Given the description of an element on the screen output the (x, y) to click on. 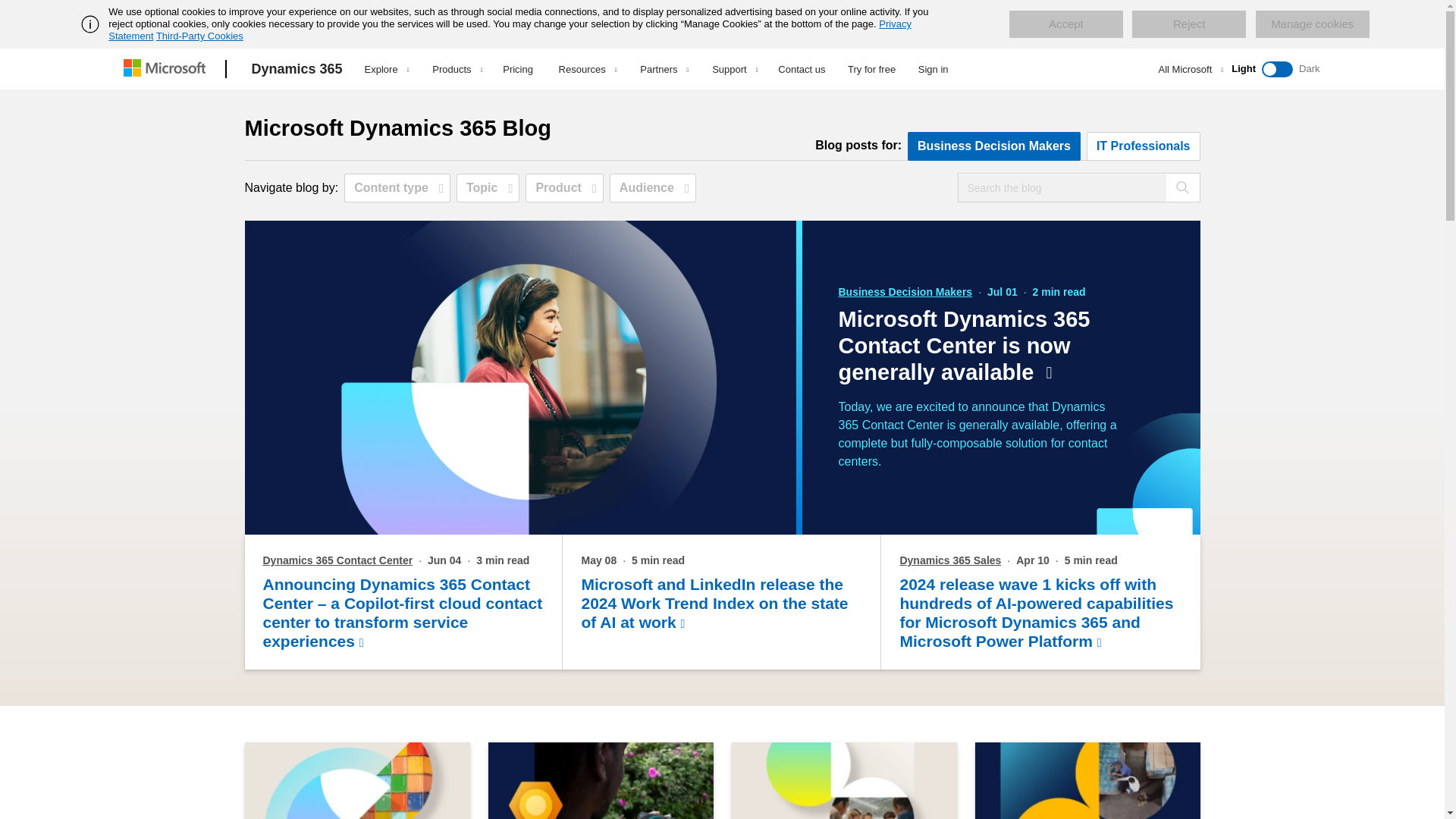
Accept (1065, 23)
Manage cookies (1312, 23)
Products (457, 69)
Reject (1189, 23)
Microsoft (167, 69)
Privacy Statement (509, 29)
Dynamics 365 (297, 69)
Explore (387, 69)
Third-Party Cookies (199, 35)
